Given the description of an element on the screen output the (x, y) to click on. 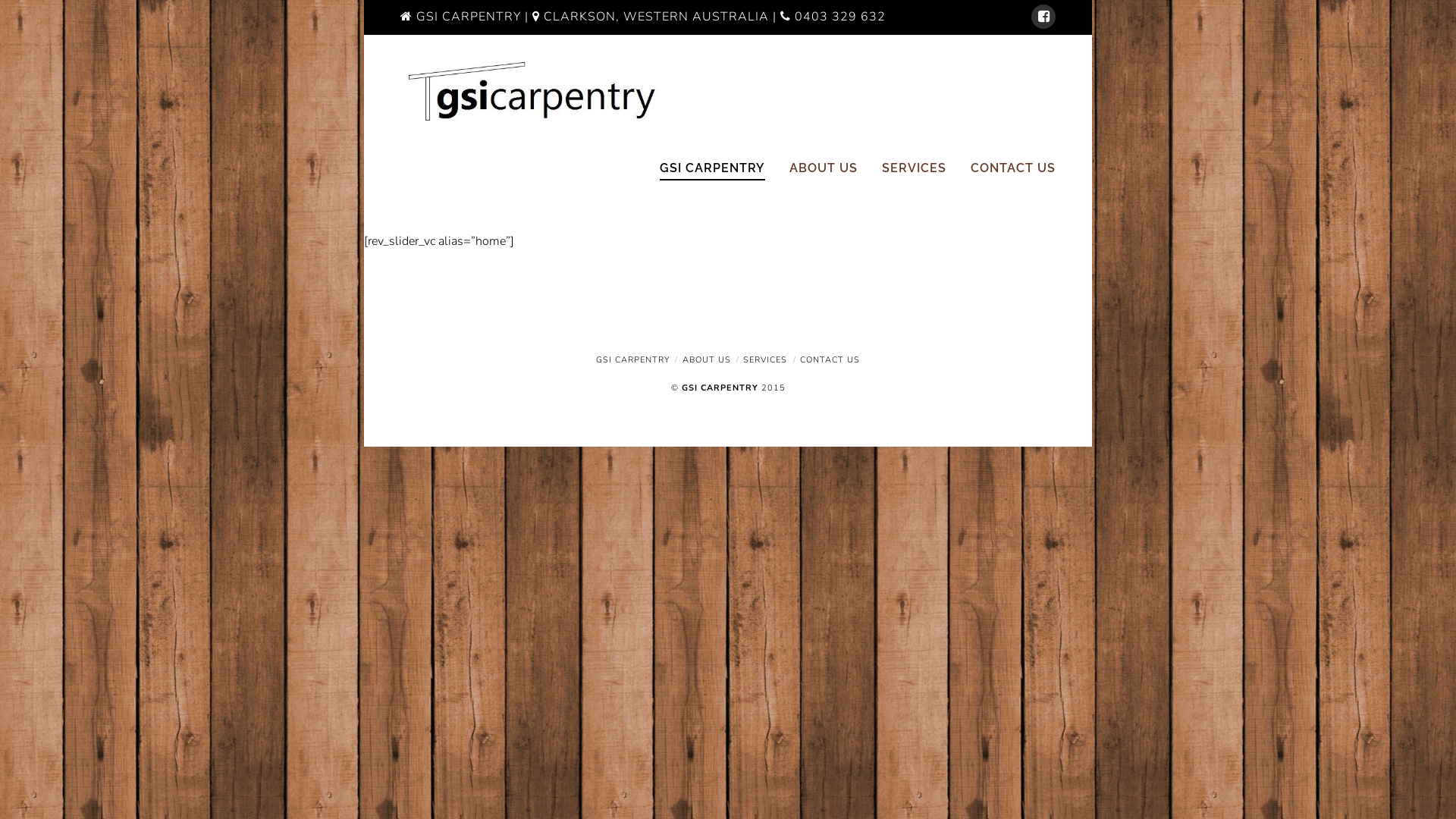
ABOUT US Element type: text (823, 177)
Facebook Element type: hover (1043, 16)
GSI CARPENTRY Element type: text (632, 359)
CONTACT US Element type: text (1006, 177)
GSI CARPENTRY Element type: text (712, 177)
SERVICES Element type: text (765, 359)
Everything Timber Element type: hover (532, 92)
SERVICES Element type: text (913, 177)
ABOUT US Element type: text (706, 359)
CONTACT US Element type: text (829, 359)
